Given the description of an element on the screen output the (x, y) to click on. 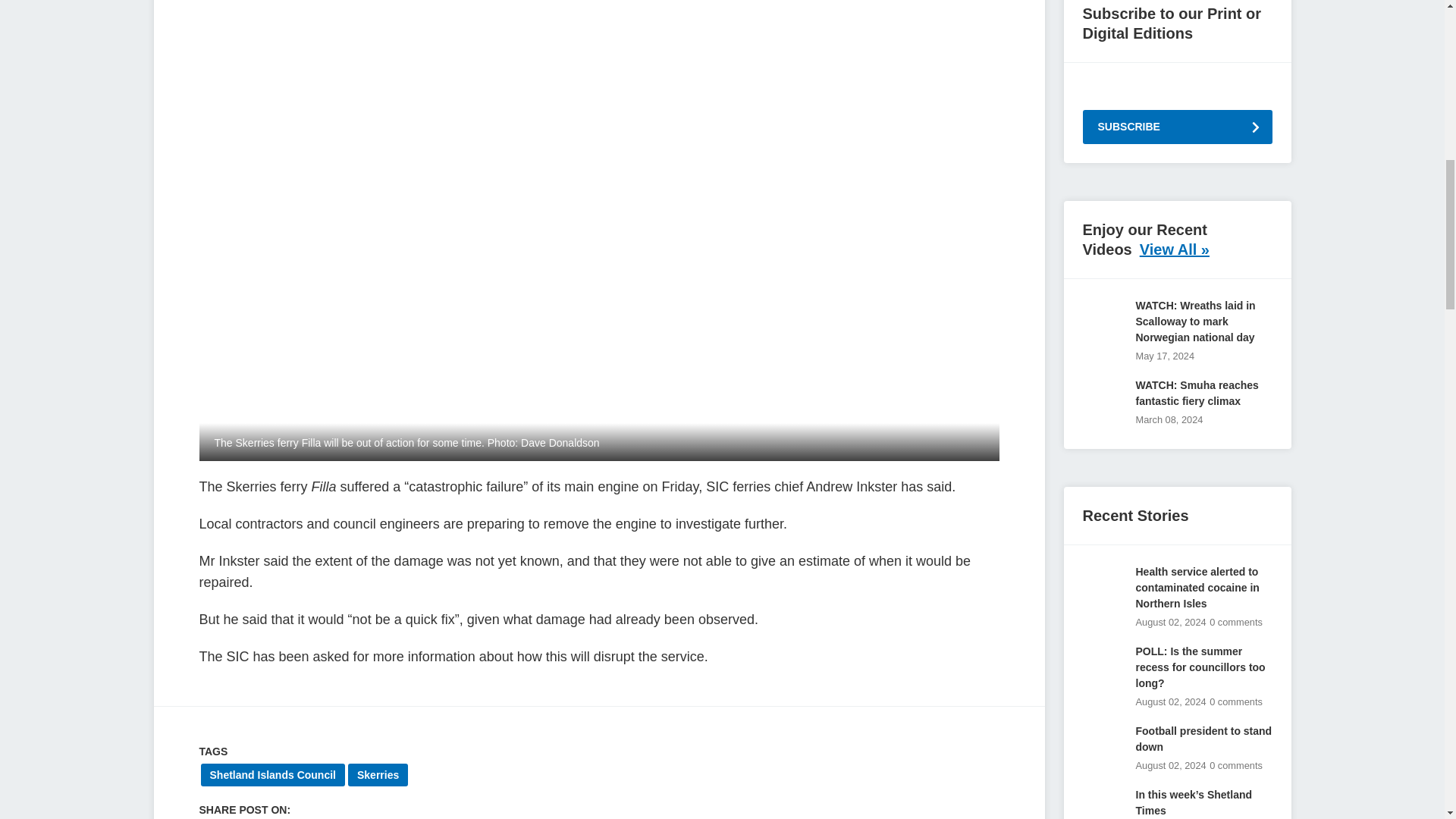
Skerries (377, 774)
Shetland Islands Council (271, 774)
